Given the description of an element on the screen output the (x, y) to click on. 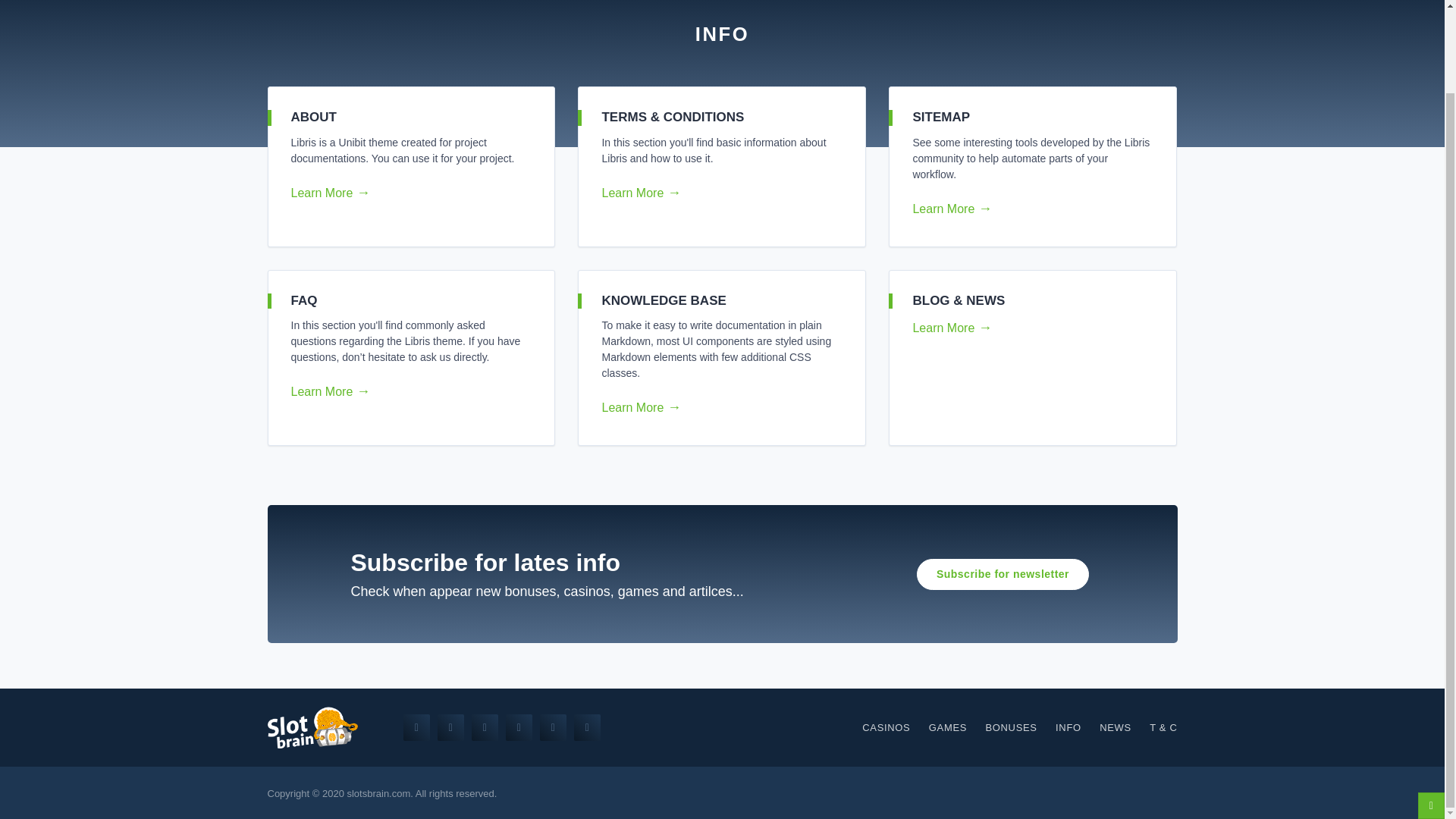
Learn More (1026, 209)
FAQ (304, 300)
Learn More (405, 192)
Learn More (715, 192)
KNOWLEDGE BASE (663, 300)
telegram (553, 727)
facebook (416, 727)
Learn More (715, 407)
SITEMAP (940, 116)
Learn More (1026, 328)
skype (484, 727)
Learn More (405, 391)
Subscribe for newsletter (1002, 573)
ABOUT (313, 116)
CASINOS (885, 727)
